Given the description of an element on the screen output the (x, y) to click on. 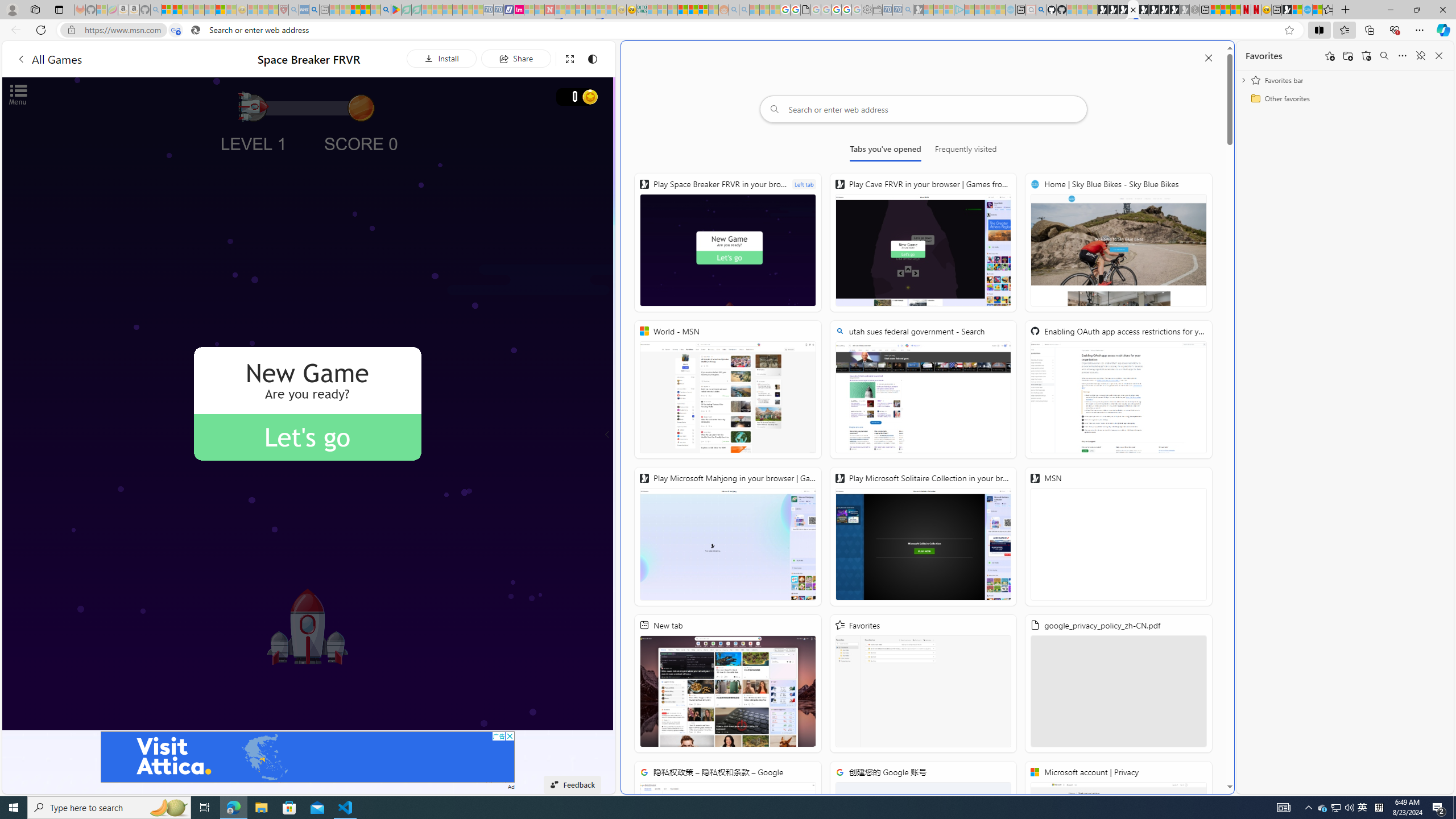
Tabs in split screen (175, 29)
New split screen (1132, 9)
World - MSN (727, 389)
Search icon (195, 29)
